Given the description of an element on the screen output the (x, y) to click on. 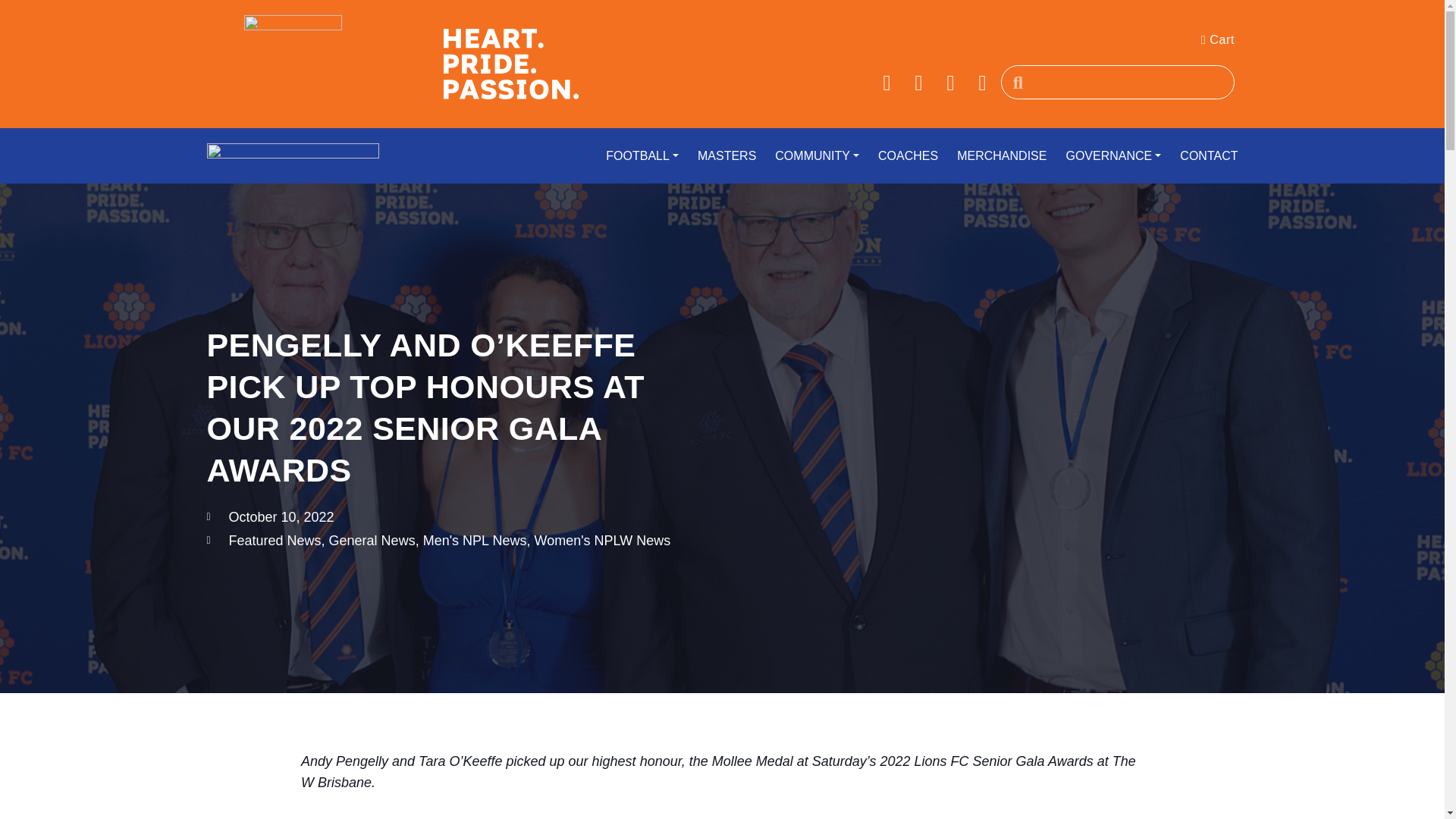
Community (809, 156)
Governance (1104, 156)
Cart (1217, 39)
FOOTBALL (634, 156)
Merchandise (994, 156)
Coaches (900, 156)
Masters (718, 156)
Football (634, 156)
